Given the description of an element on the screen output the (x, y) to click on. 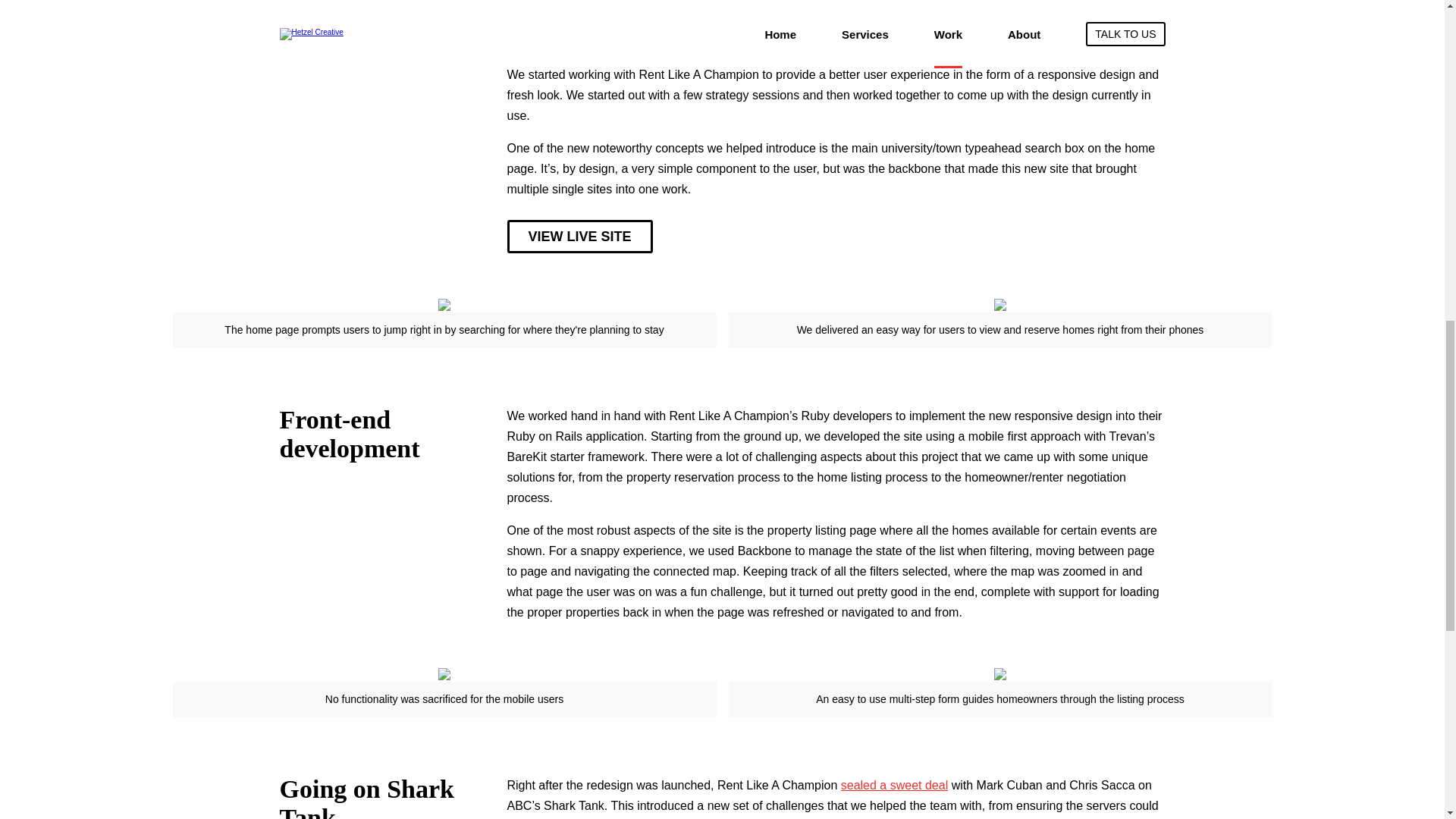
VIEW LIVE SITE (579, 236)
sealed a sweet deal (894, 784)
